Given the description of an element on the screen output the (x, y) to click on. 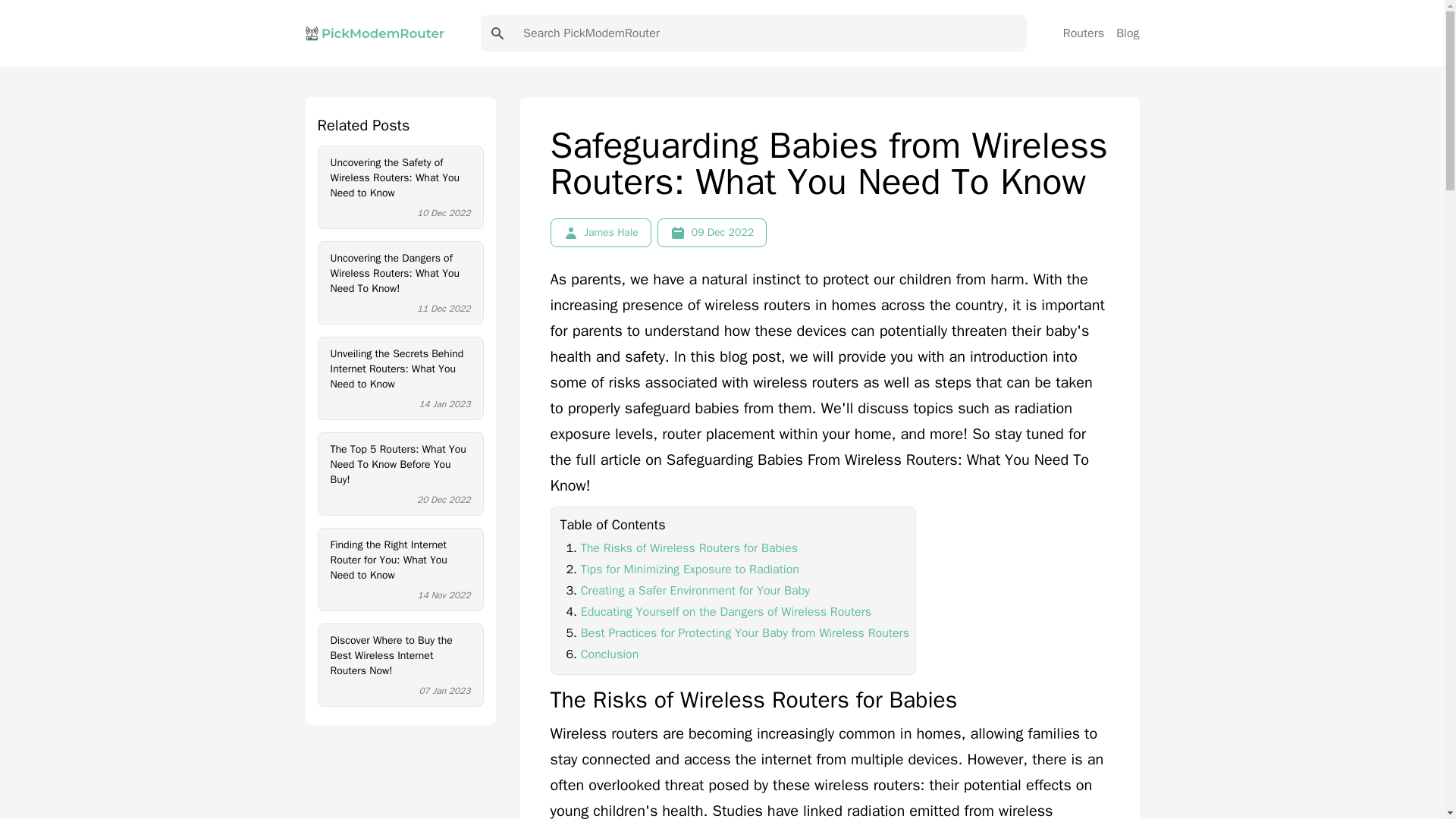
Tips for Minimizing Exposure to Radiation (689, 569)
Creating a Safer Environment for Your Baby (694, 590)
Routers (1082, 33)
The Risks of Wireless Routers for Babies (688, 548)
Educating Yourself on the Dangers of Wireless Routers (725, 611)
